Given the description of an element on the screen output the (x, y) to click on. 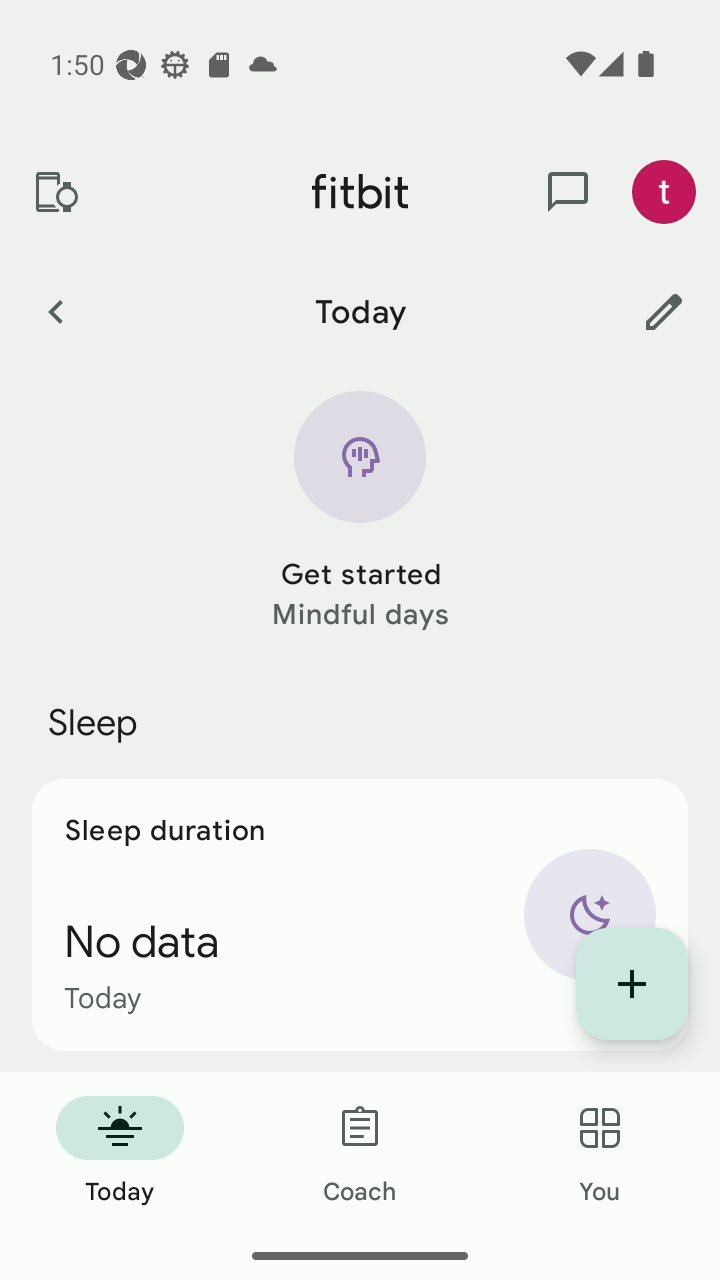
Devices and apps (55, 191)
messages and notifications (567, 191)
Previous Day (55, 311)
Customize (664, 311)
Mindfulness icon Get started Mindful days (360, 512)
Sleep duration No data Today Sleep static arc (359, 914)
Display list of quick log entries (632, 983)
Coach (359, 1151)
You (600, 1151)
